Given the description of an element on the screen output the (x, y) to click on. 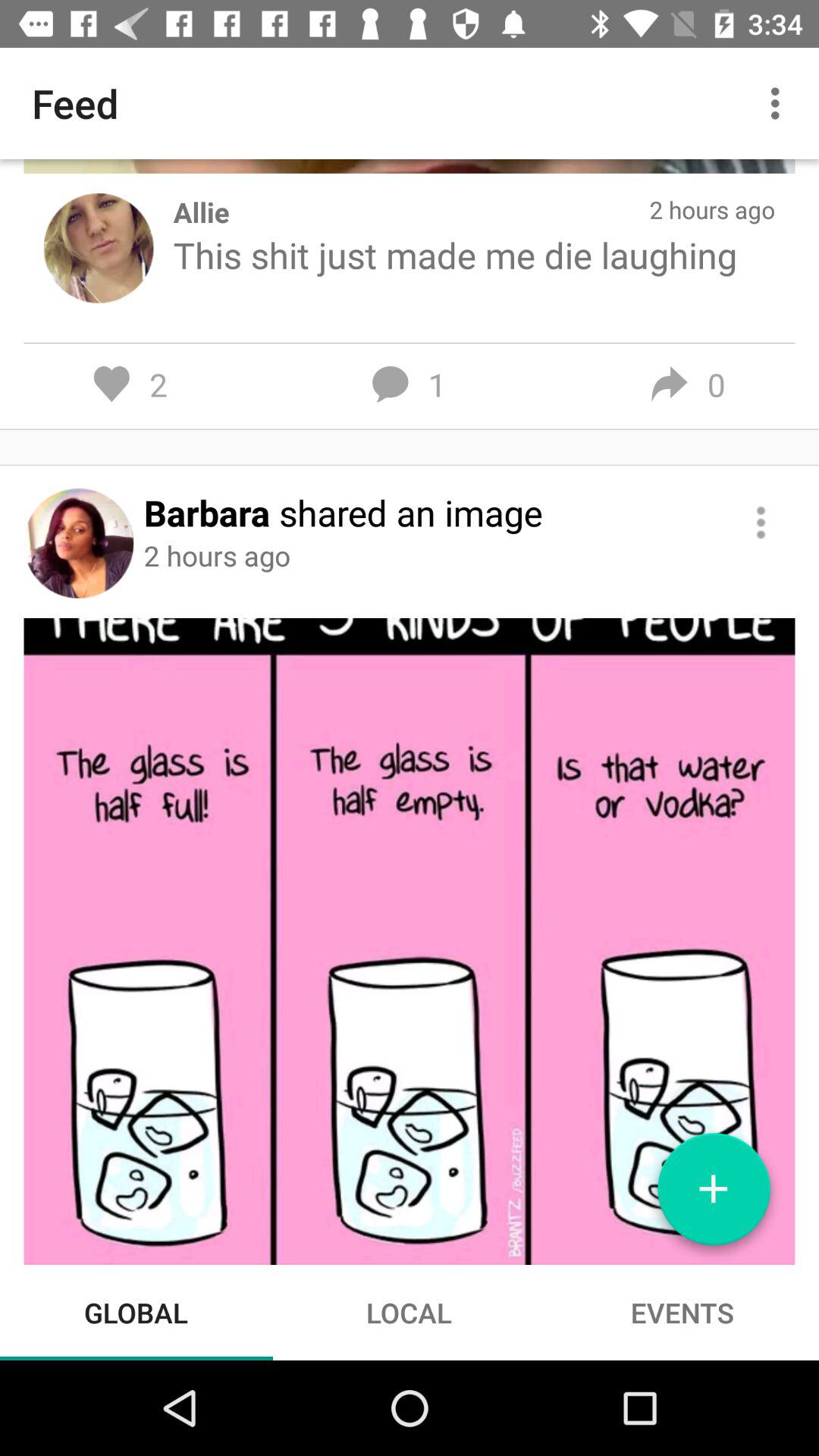
go to user profile (78, 543)
